Given the description of an element on the screen output the (x, y) to click on. 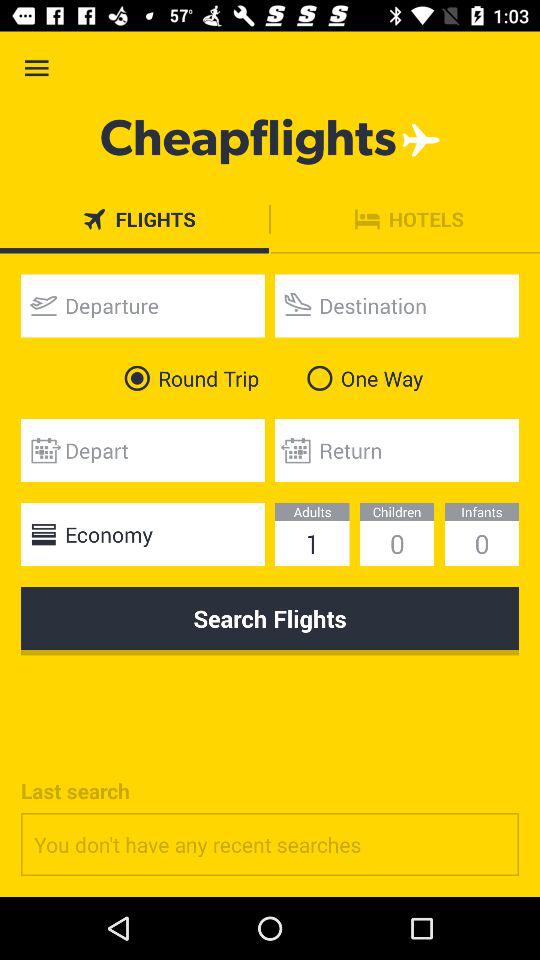
select option (142, 305)
